Given the description of an element on the screen output the (x, y) to click on. 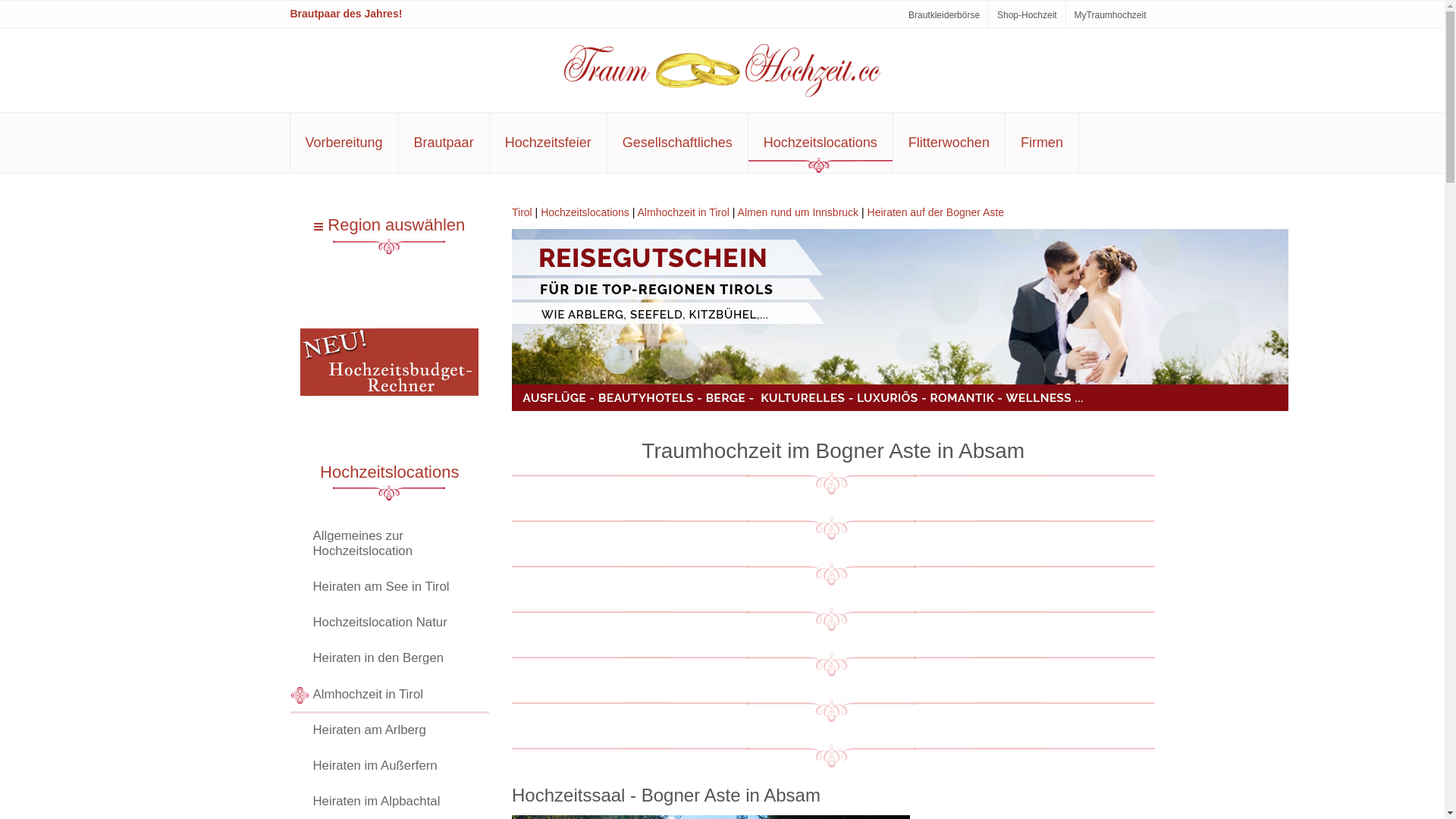
Hochzeitsfeier Element type: text (547, 142)
Heiraten am Arlberg Element type: text (389, 731)
Hochzeitslocations Element type: text (389, 471)
Kostenlose Hochzeitshomepage von Traumhochzeit Element type: hover (389, 365)
Heiraten auf der Bogner Aste Element type: text (935, 212)
Hochzeitslocations Element type: text (584, 212)
Firmen Element type: text (1041, 142)
Brautpaar des Jahres! Element type: text (345, 13)
Brautpaar Element type: text (443, 142)
Almhochzeit in Tirol Element type: text (389, 695)
Flitterwochen Element type: text (948, 142)
Vorbereitung Element type: text (343, 142)
Heiraten in den Bergen Element type: text (389, 659)
Heiraten am See in Tirol Element type: text (389, 587)
MyTraumhochzeit Element type: text (1110, 14)
Tirol Element type: text (521, 212)
Shop-Hochzeit Element type: text (1027, 14)
Almhochzeit in Tirol Element type: text (683, 212)
Gesellschaftliches Element type: text (677, 142)
Almen rund um Innsbruck Element type: text (798, 212)
Allgemeines zur Hochzeitslocation Element type: text (389, 544)
Hochzeitslocations Element type: text (820, 142)
Hochzeitslocation Natur Element type: text (389, 623)
